Given the description of an element on the screen output the (x, y) to click on. 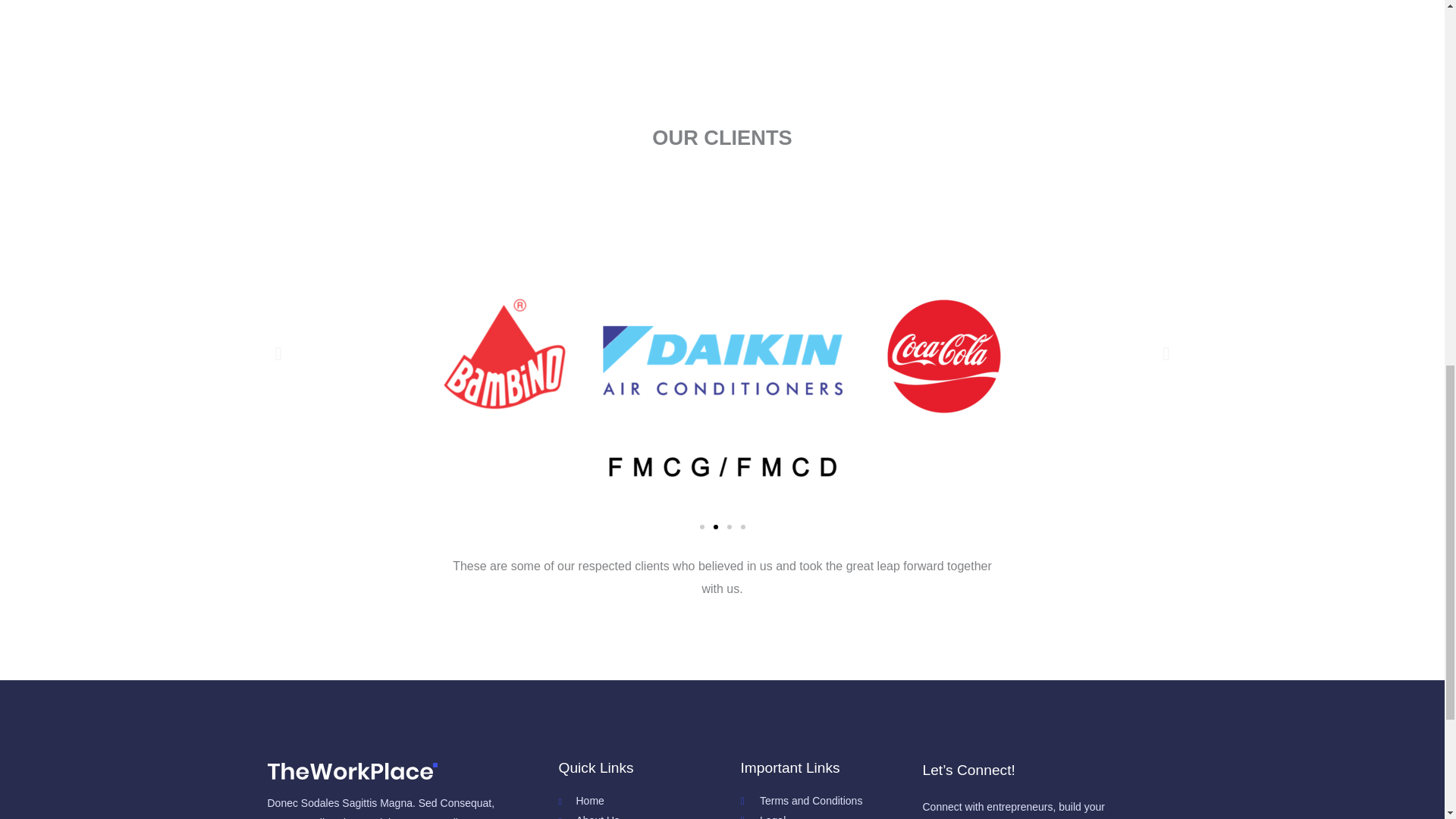
About Us (648, 815)
Legal (830, 815)
Terms and Conditions (830, 801)
Home (648, 801)
theworkplace-logo-light (352, 771)
